Given the description of an element on the screen output the (x, y) to click on. 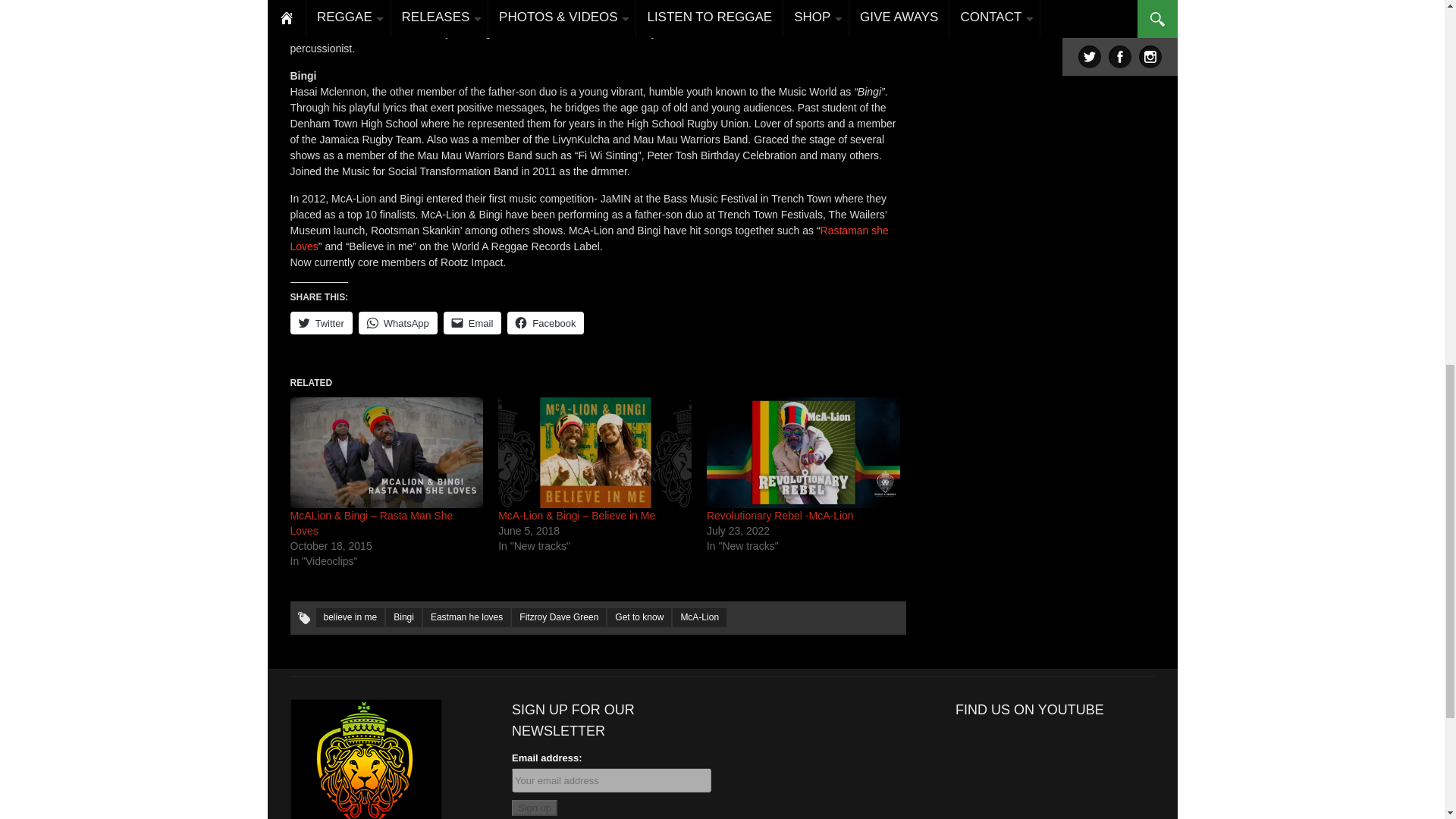
Sign up (534, 807)
Twitter (320, 323)
believe in me (349, 617)
Rastaman she Loves (588, 238)
Revolutionary Rebel -McA-Lion (779, 515)
Facebook (544, 323)
Click to share on WhatsApp (398, 323)
Email (473, 323)
World A Reggae Entertainment (365, 779)
Click to share on Facebook (544, 323)
Click to share on Twitter (320, 323)
Click to email a link to a friend (473, 323)
WhatsApp (398, 323)
Revolutionary Rebel -McA-Lion (802, 452)
Bingi (403, 617)
